Given the description of an element on the screen output the (x, y) to click on. 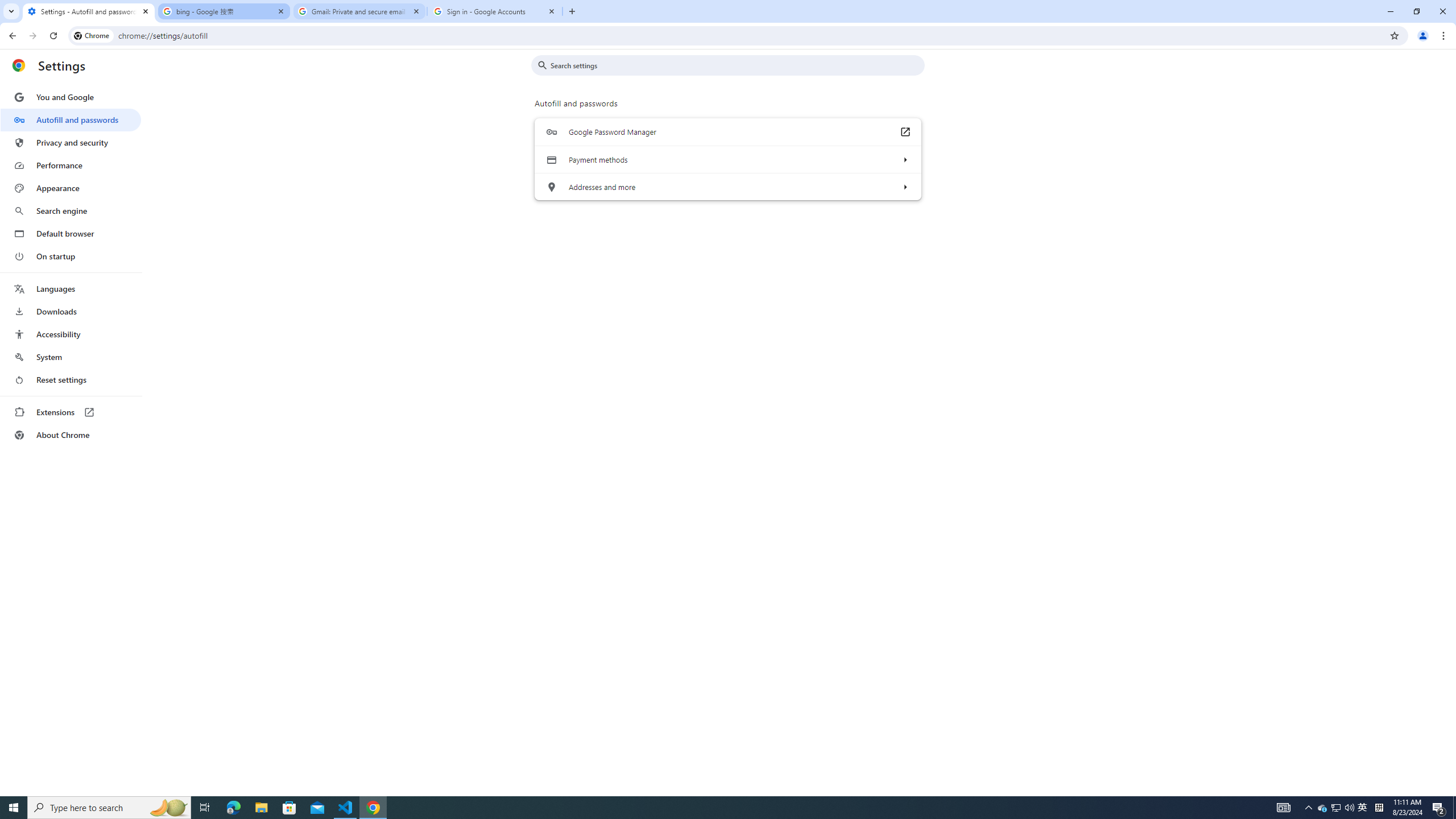
Sign in - Google Accounts (494, 11)
